Given the description of an element on the screen output the (x, y) to click on. 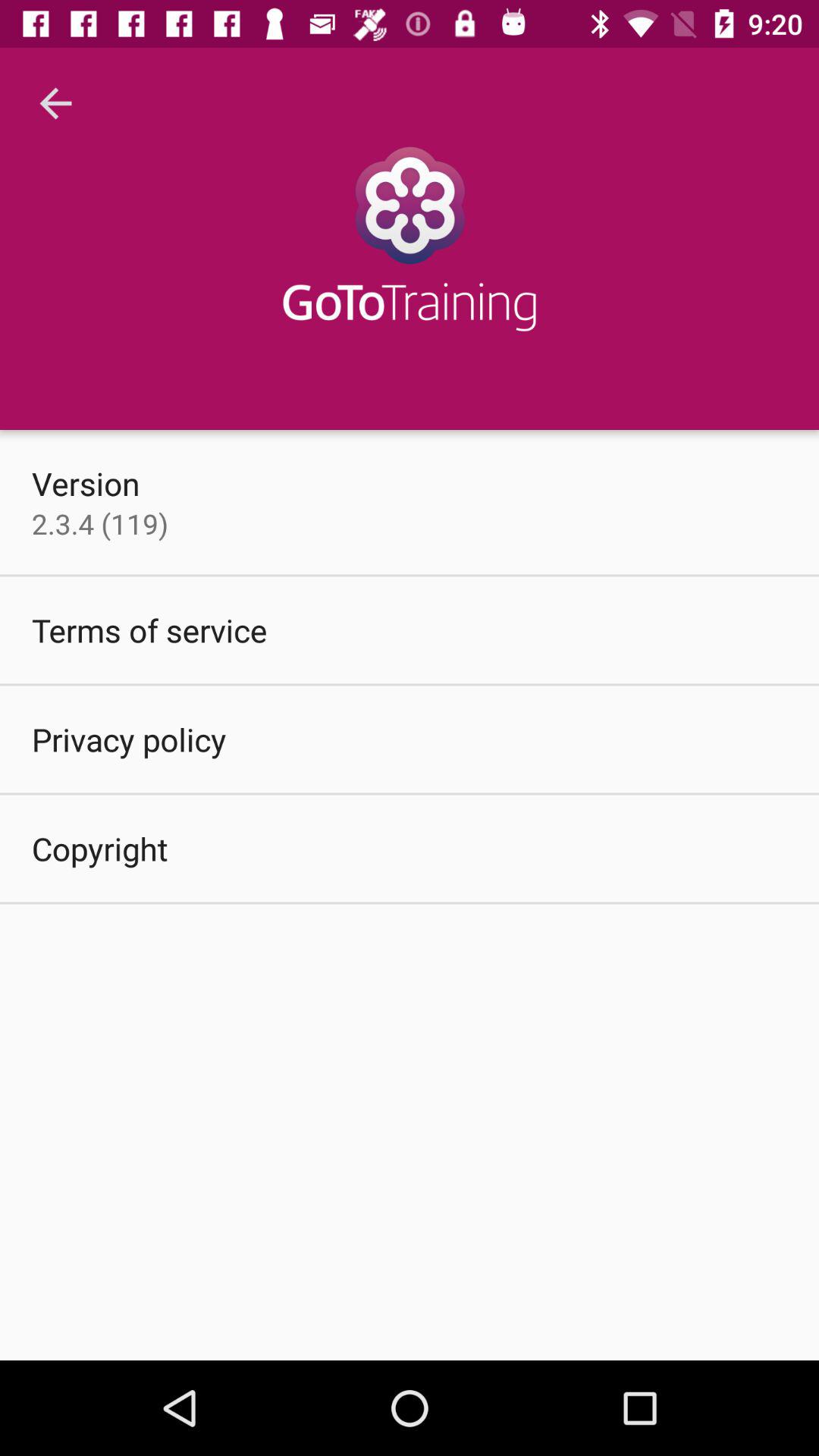
turn on the item above the privacy policy icon (149, 629)
